Given the description of an element on the screen output the (x, y) to click on. 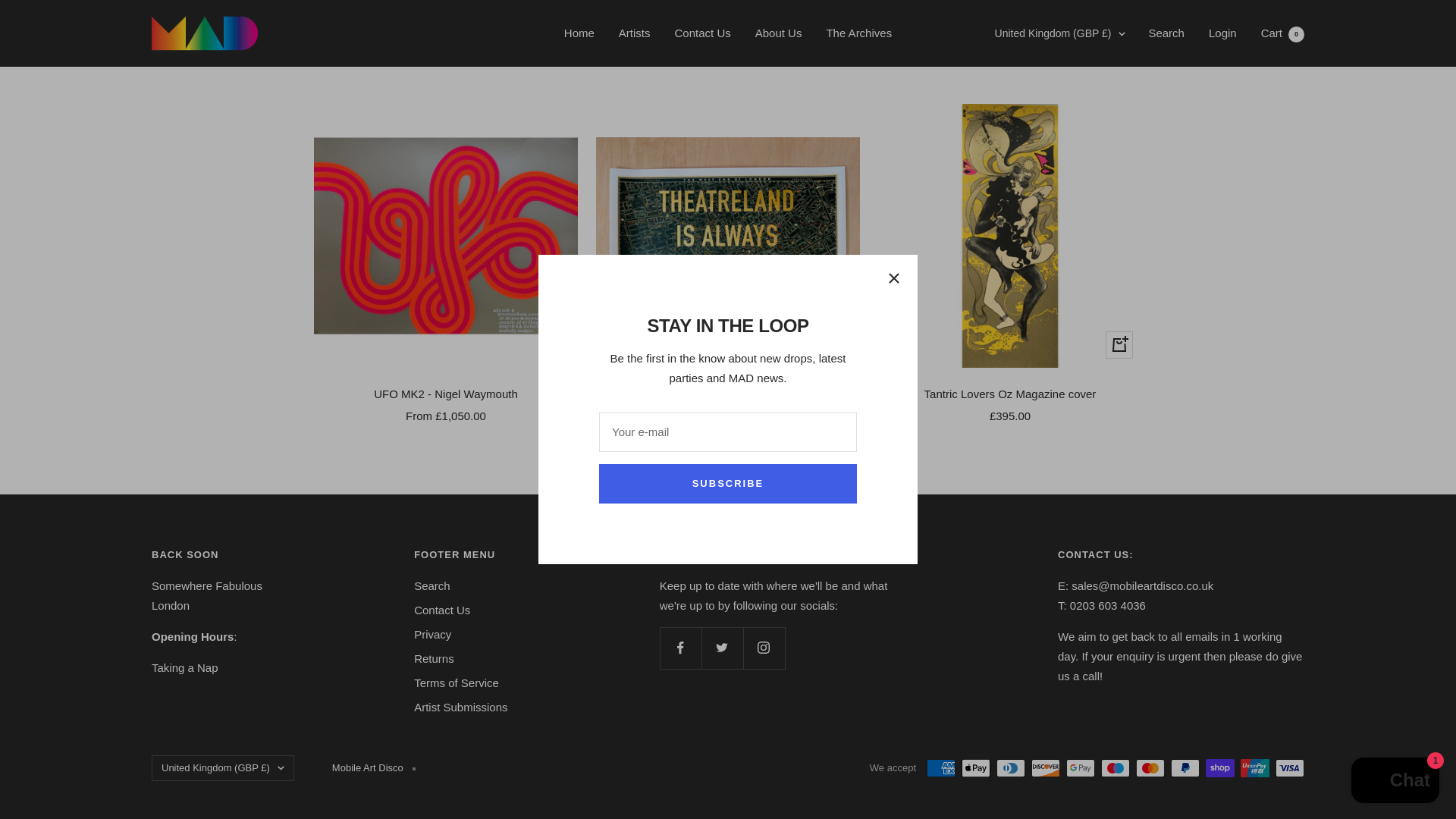
BZ (975, 103)
BE (975, 78)
BD (975, 6)
BY (975, 53)
BM (975, 153)
BJ (975, 128)
BT (975, 178)
BA (975, 229)
BO (975, 203)
BB (975, 28)
Shopify online store chat (1395, 212)
